Given the description of an element on the screen output the (x, y) to click on. 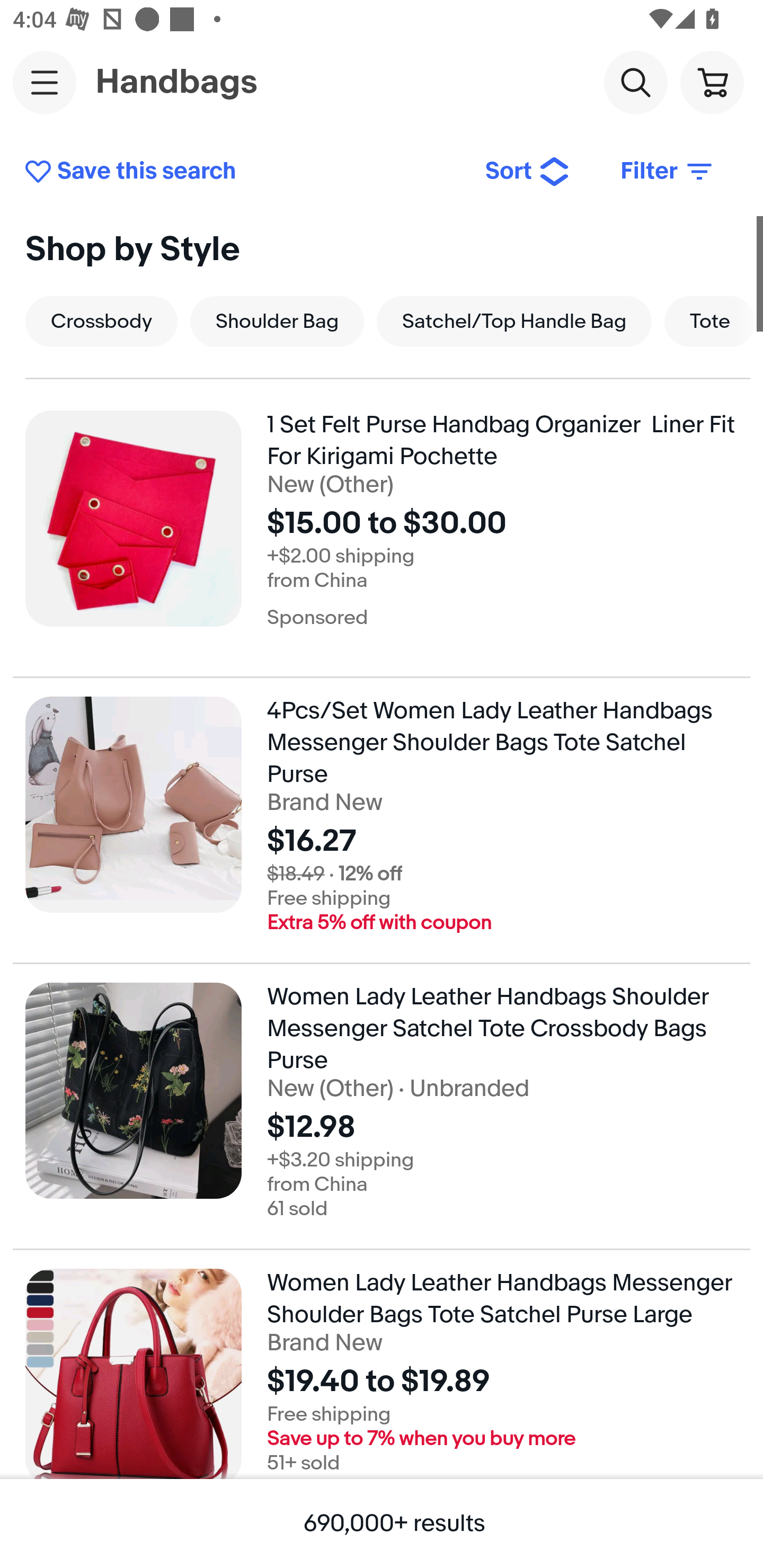
Main navigation, open (44, 82)
Search (635, 81)
Cart button shopping cart (711, 81)
Save this search (241, 171)
Sort (527, 171)
Filter (667, 171)
Crossbody Crossbody, Style (101, 321)
Shoulder Bag Shoulder Bag, Style (276, 321)
Tote Tote, Style (709, 321)
